Given the description of an element on the screen output the (x, y) to click on. 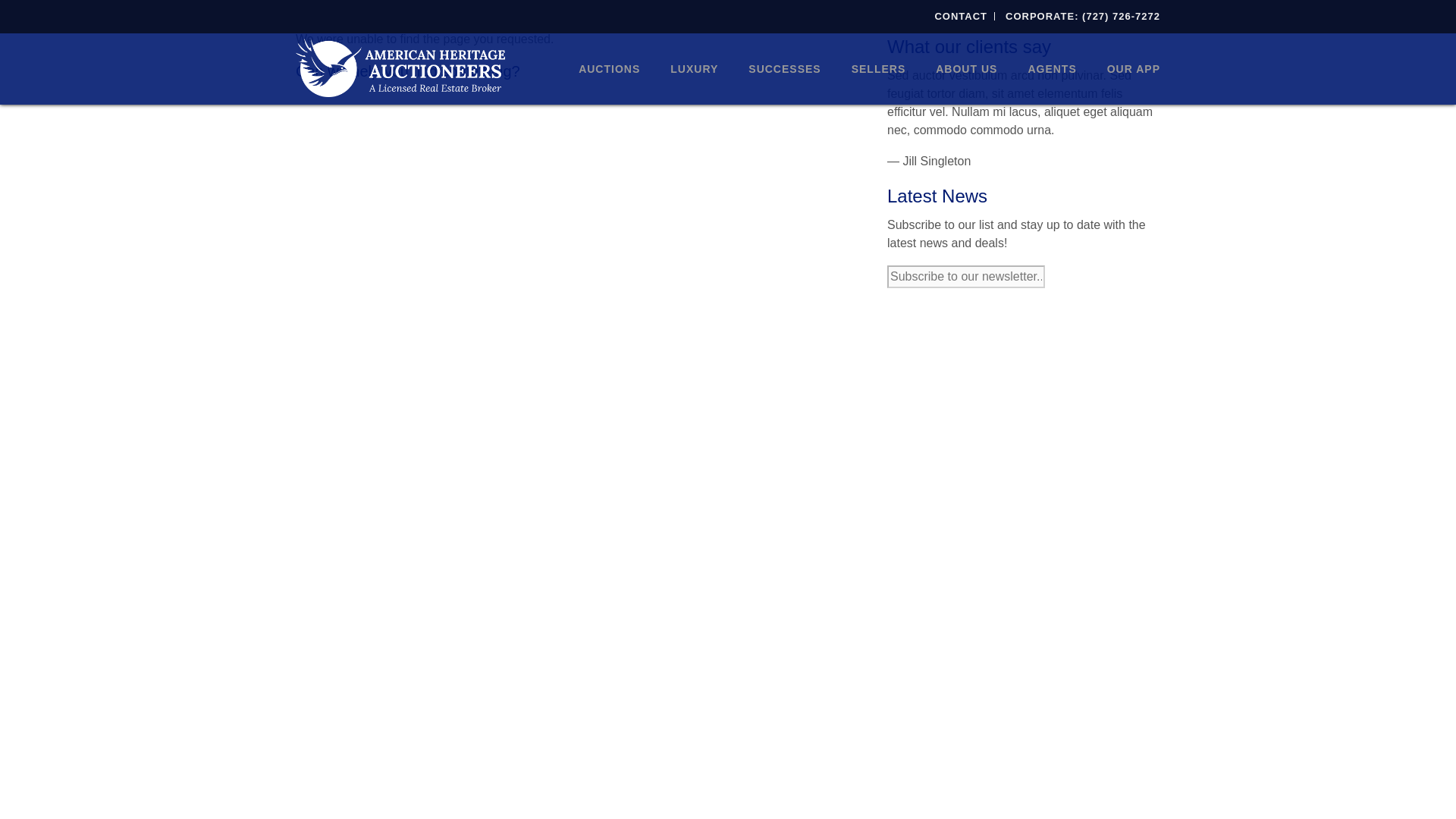
Agents (1050, 68)
AUCTIONS (609, 68)
Call Us (1083, 16)
Successes (784, 68)
Our App (1126, 68)
American Heritage Auctioneers, LLC (400, 66)
LUXURY (694, 68)
Contact (960, 16)
Sellers (878, 68)
Luxury (694, 68)
AGENTS (1050, 68)
SUCCESSES (784, 68)
ABOUT US (965, 68)
Auctions (609, 68)
SELLERS (878, 68)
